Given the description of an element on the screen output the (x, y) to click on. 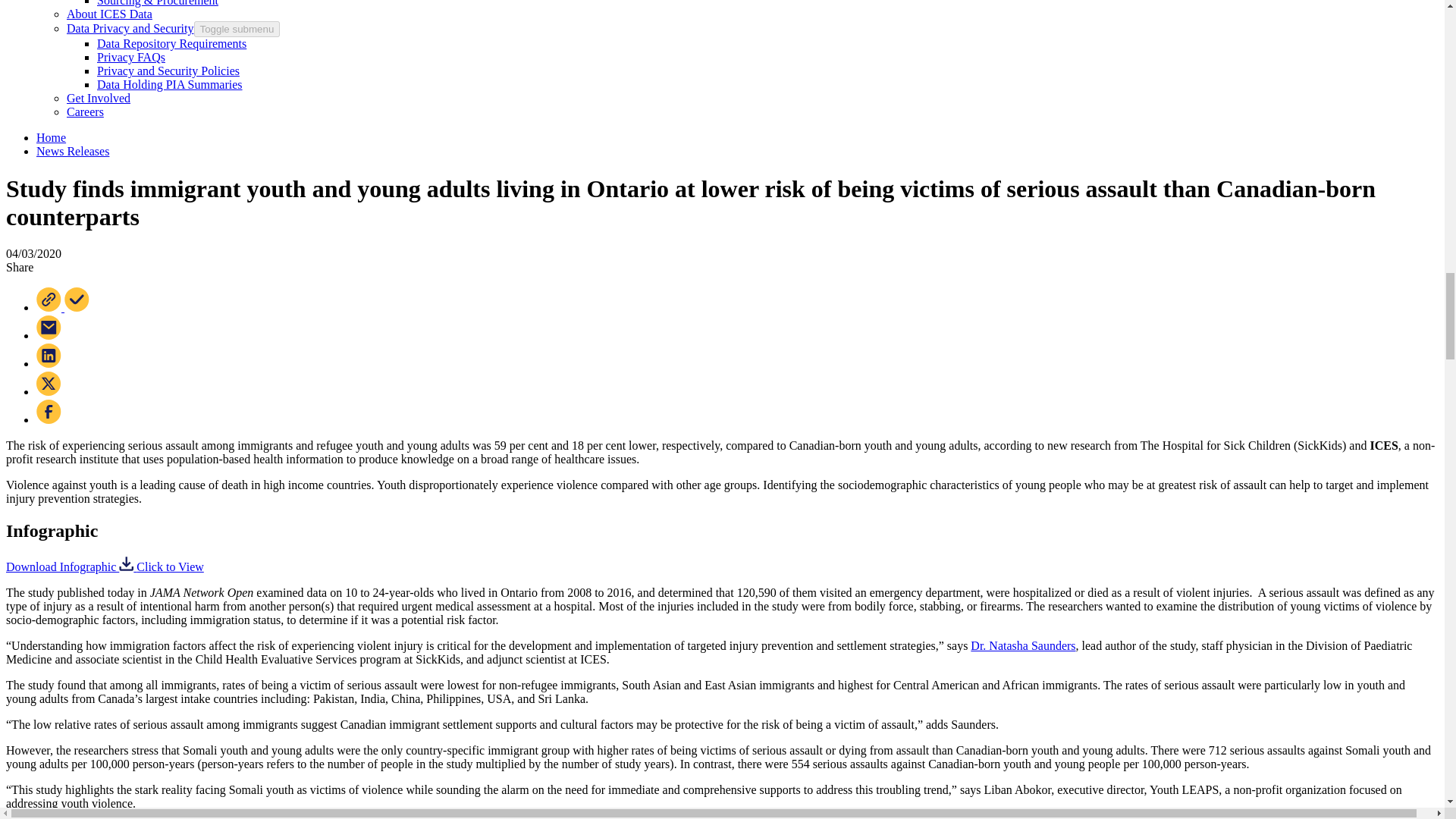
Share via Email (48, 335)
Share on LinkedIn (48, 363)
Share on Facebook (48, 419)
Copy to clipboard (62, 307)
